Given the description of an element on the screen output the (x, y) to click on. 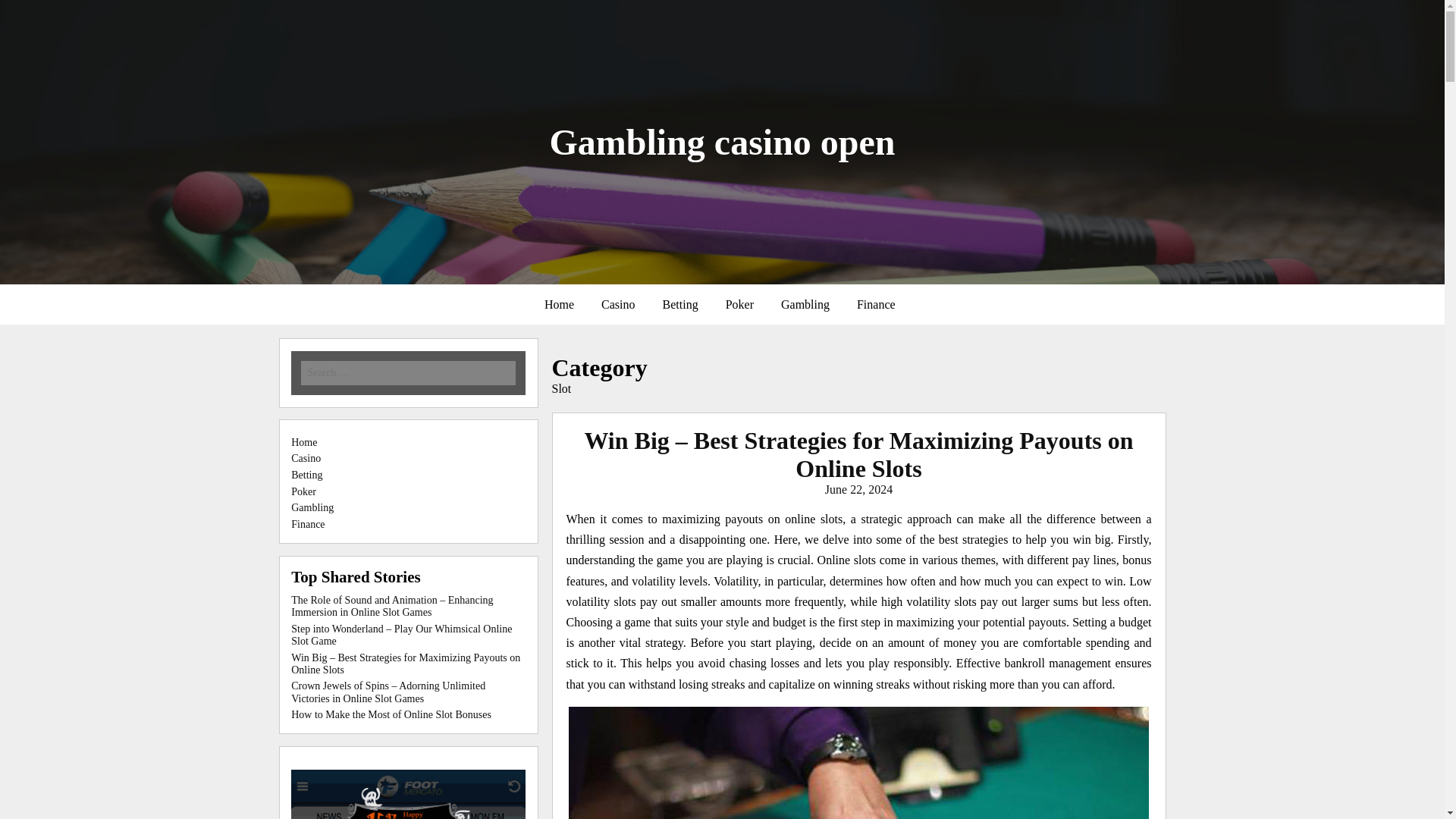
Poker (739, 304)
Gambling casino open (721, 142)
Casino (617, 304)
June 22, 2024 (858, 489)
Gambling (804, 304)
Betting (680, 304)
Finance (875, 304)
Home (559, 304)
